Given the description of an element on the screen output the (x, y) to click on. 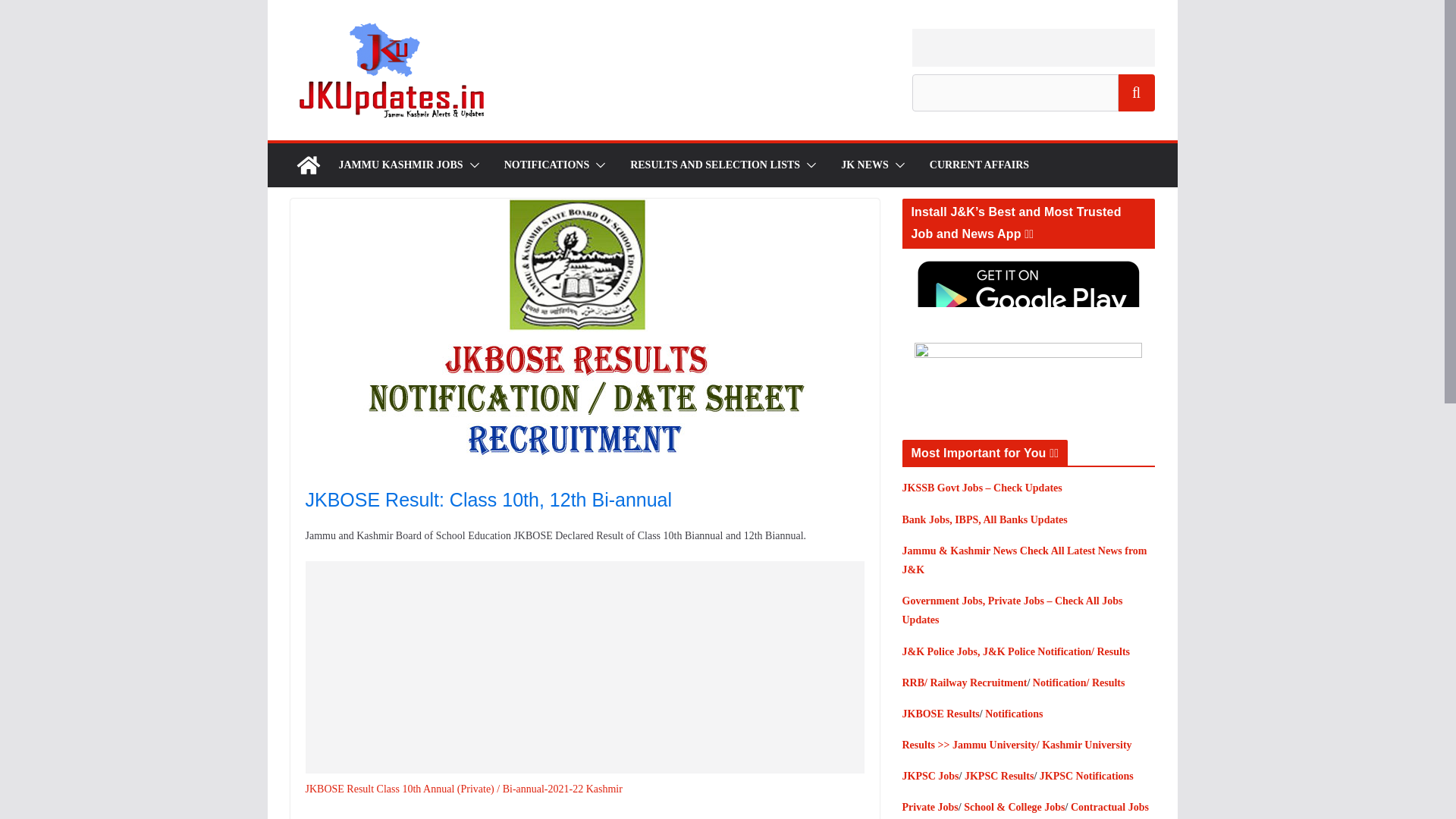
Search (1136, 92)
Advertisement (595, 667)
NOTIFICATIONS (546, 165)
JK NEWS (864, 165)
Advertisement (1032, 47)
RESULTS AND SELECTION LISTS (714, 165)
JAMMU KASHMIR JOBS (400, 165)
